Given the description of an element on the screen output the (x, y) to click on. 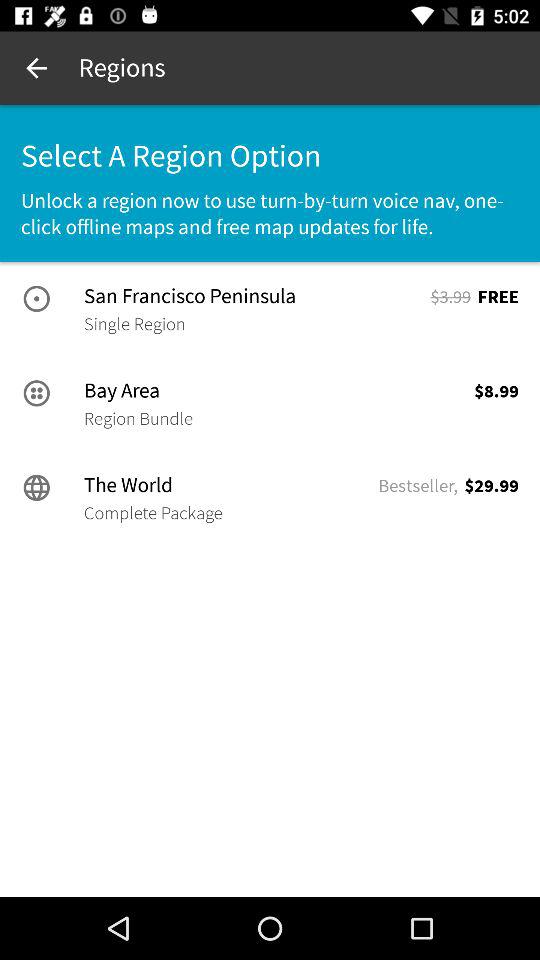
turn on the item to the right of the world (417, 486)
